Given the description of an element on the screen output the (x, y) to click on. 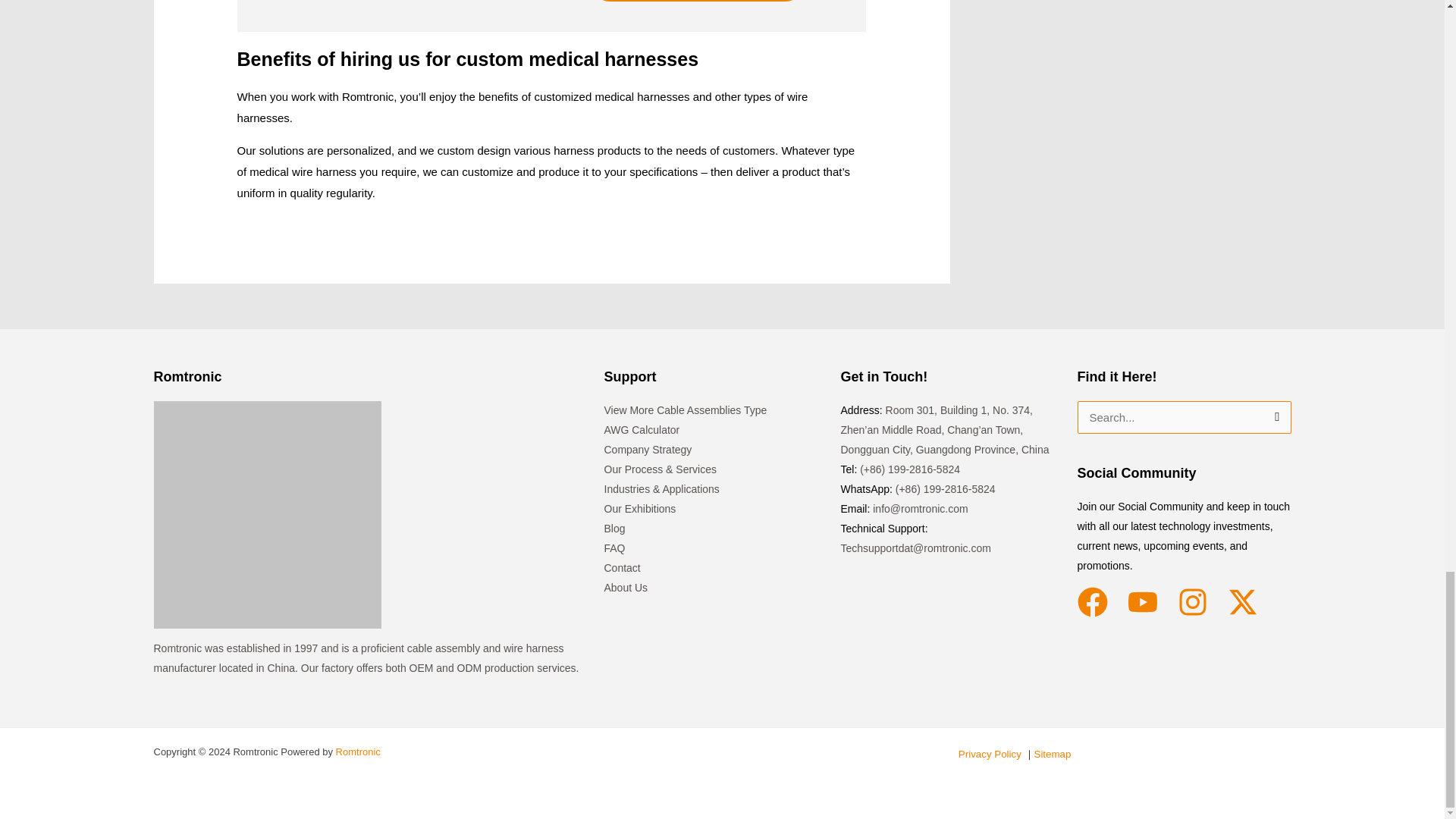
Search (1274, 417)
Search (1274, 417)
